Given the description of an element on the screen output the (x, y) to click on. 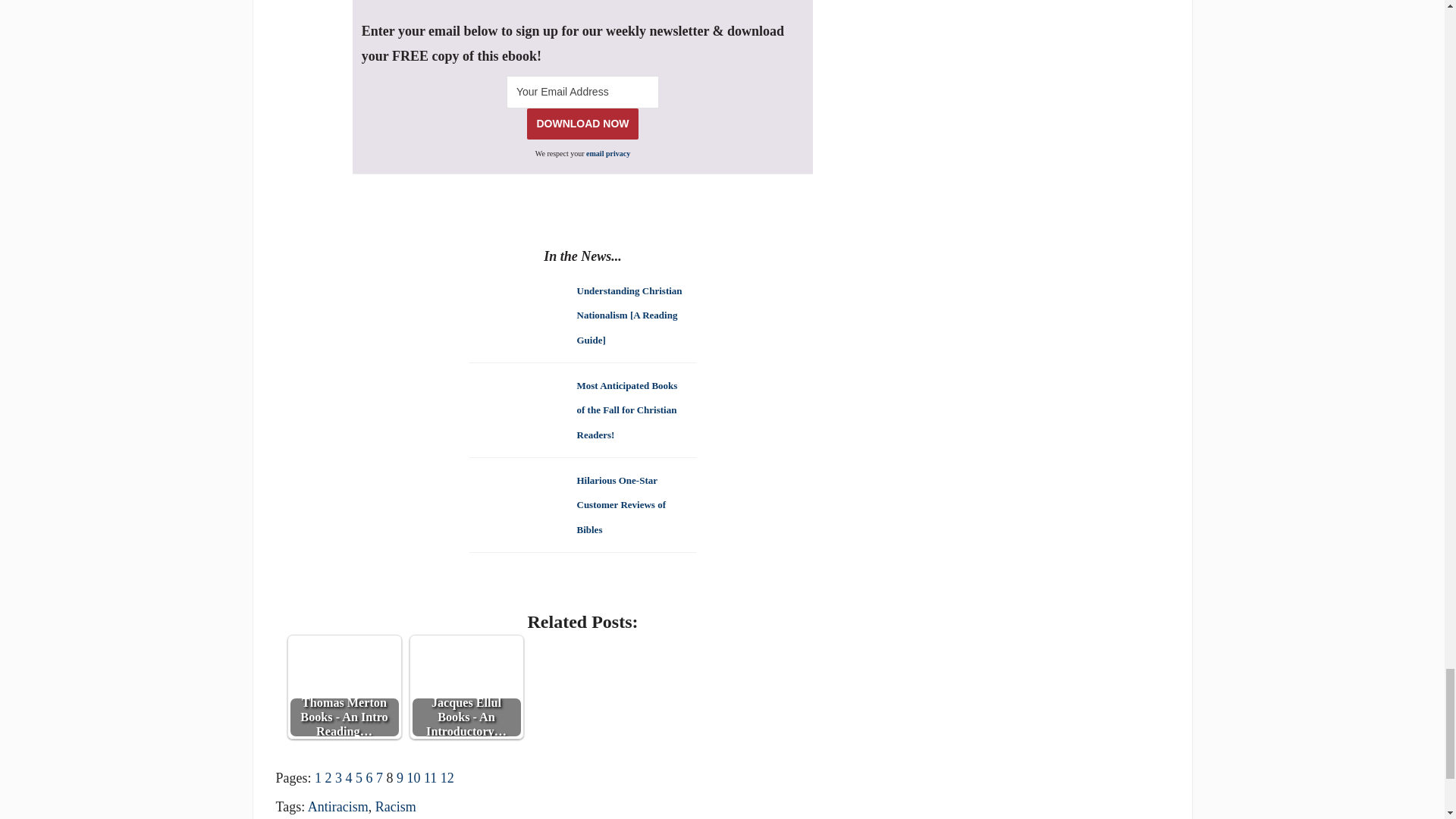
DOWNLOAD NOW (582, 123)
Thomas Merton Books - An Intro Reading Guide (344, 663)
Your Email Address (582, 92)
Privacy Policy (608, 153)
email privacy (608, 153)
DOWNLOAD NOW (582, 123)
Jacques Ellul Books - An Introductory Reading Guide (465, 663)
Most Anticipated Books of the Fall for Christian Readers! (626, 408)
